Given the description of an element on the screen output the (x, y) to click on. 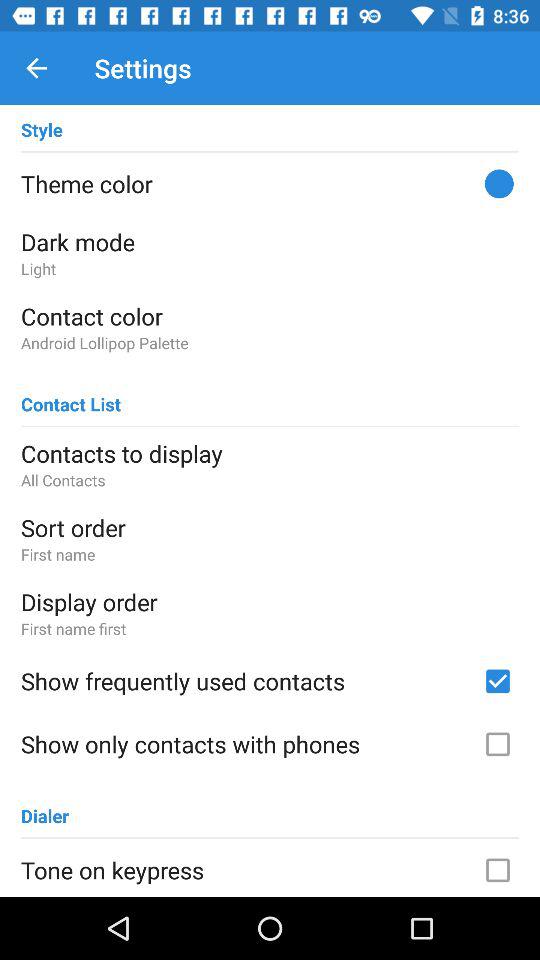
select the contact color item (270, 316)
